Given the description of an element on the screen output the (x, y) to click on. 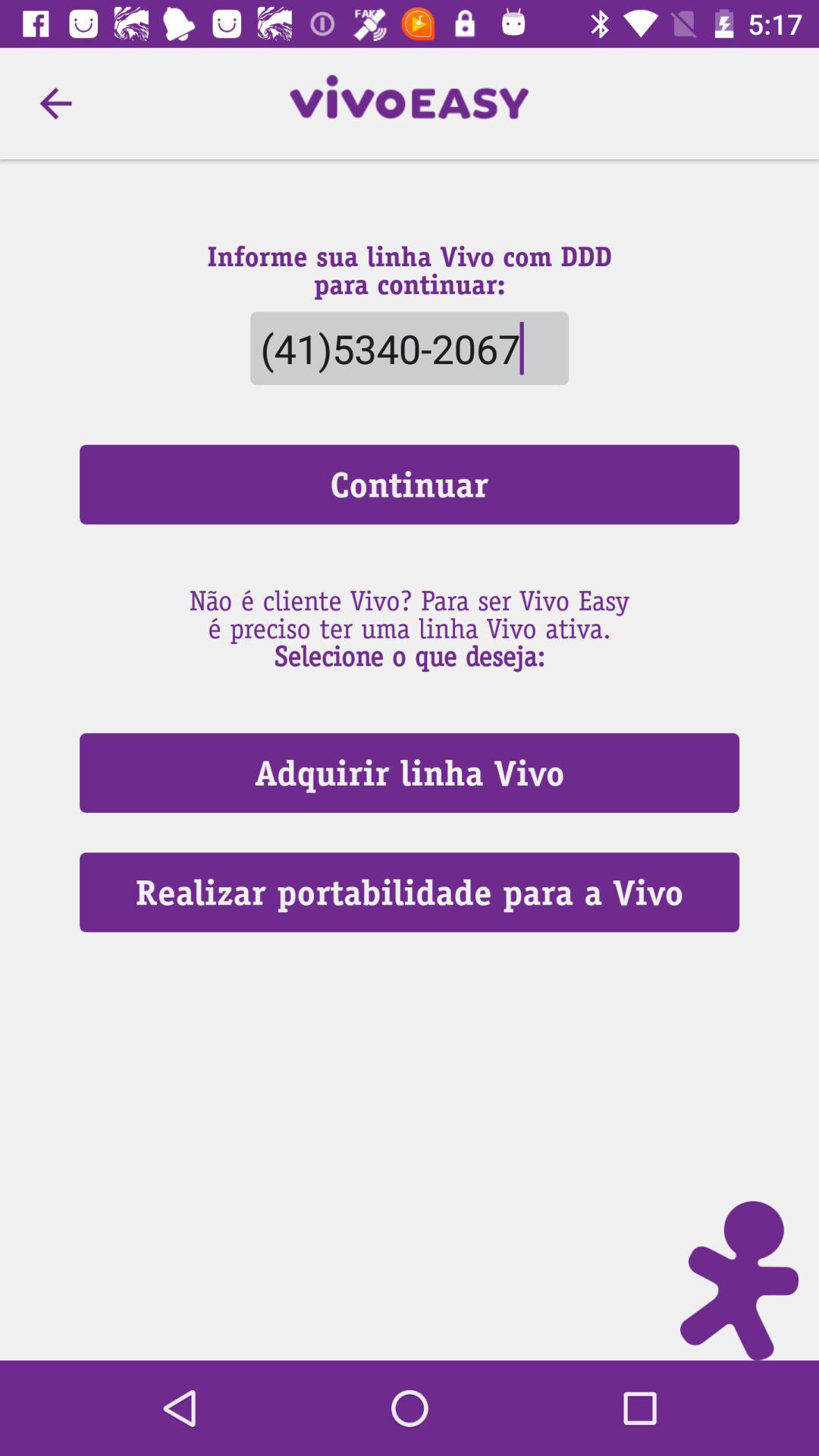
click item above continuar (55, 103)
